Given the description of an element on the screen output the (x, y) to click on. 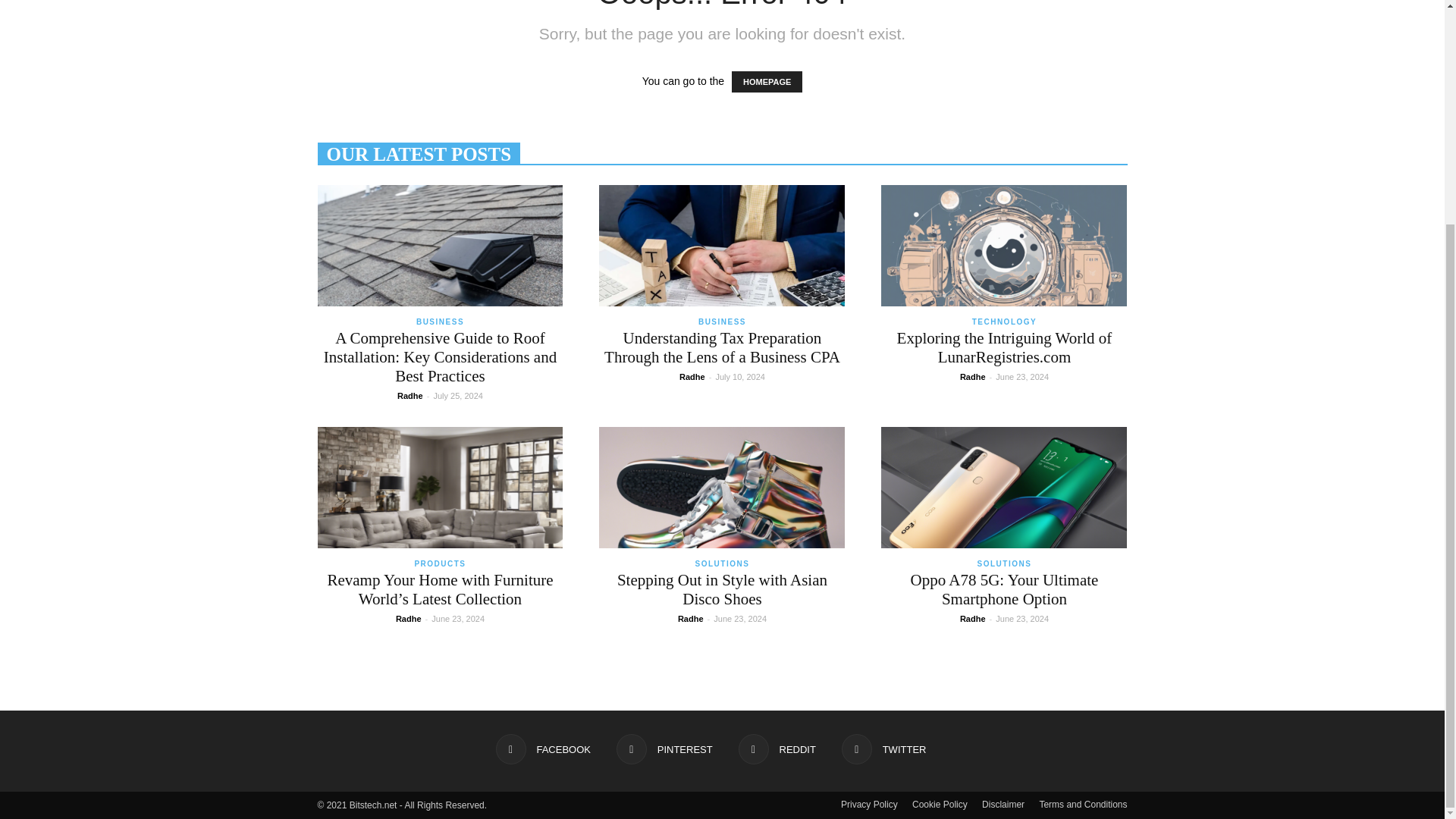
Exploring the Intriguing World of LunarRegistries.com (1003, 245)
HOMEPAGE (767, 81)
Radhe (410, 395)
Exploring the Intriguing World of LunarRegistries.com (1004, 347)
BUSINESS (439, 322)
